Given the description of an element on the screen output the (x, y) to click on. 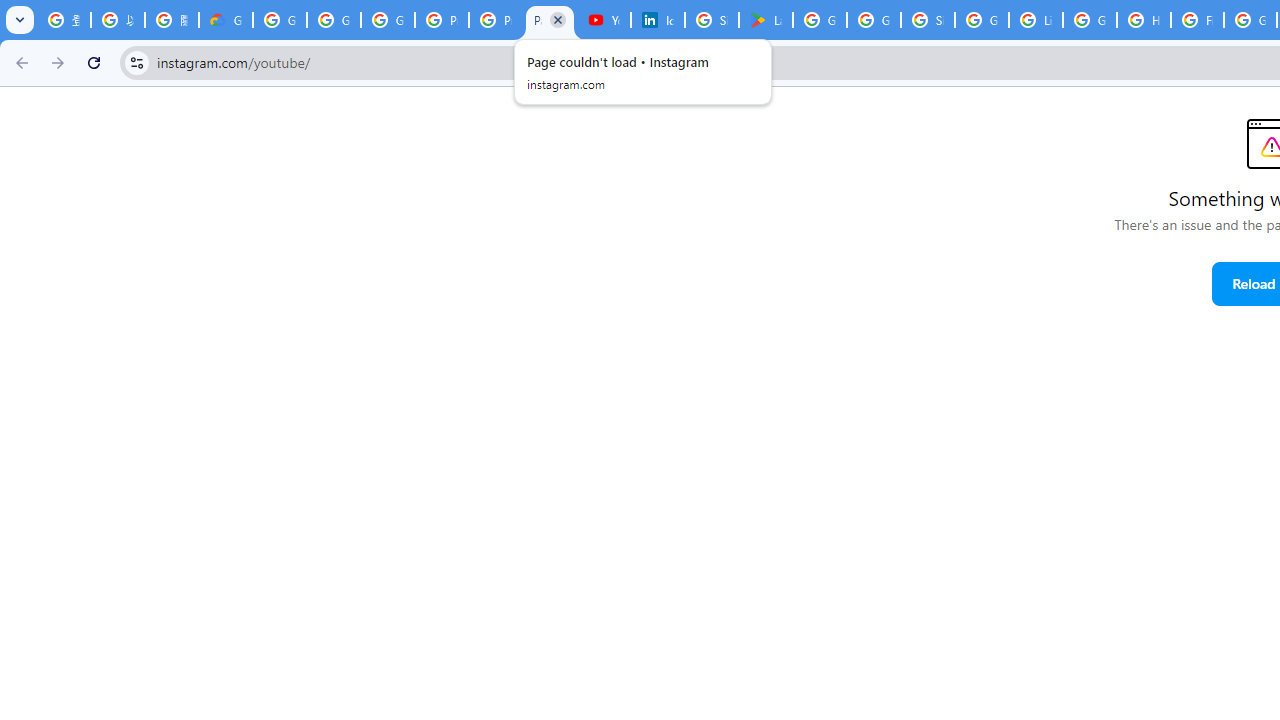
Last Shelter: Survival - Apps on Google Play (765, 20)
How do I create a new Google Account? - Google Account Help (1144, 20)
YouTube Culture & Trends - On The Rise: Handcam Videos (604, 20)
